Given the description of an element on the screen output the (x, y) to click on. 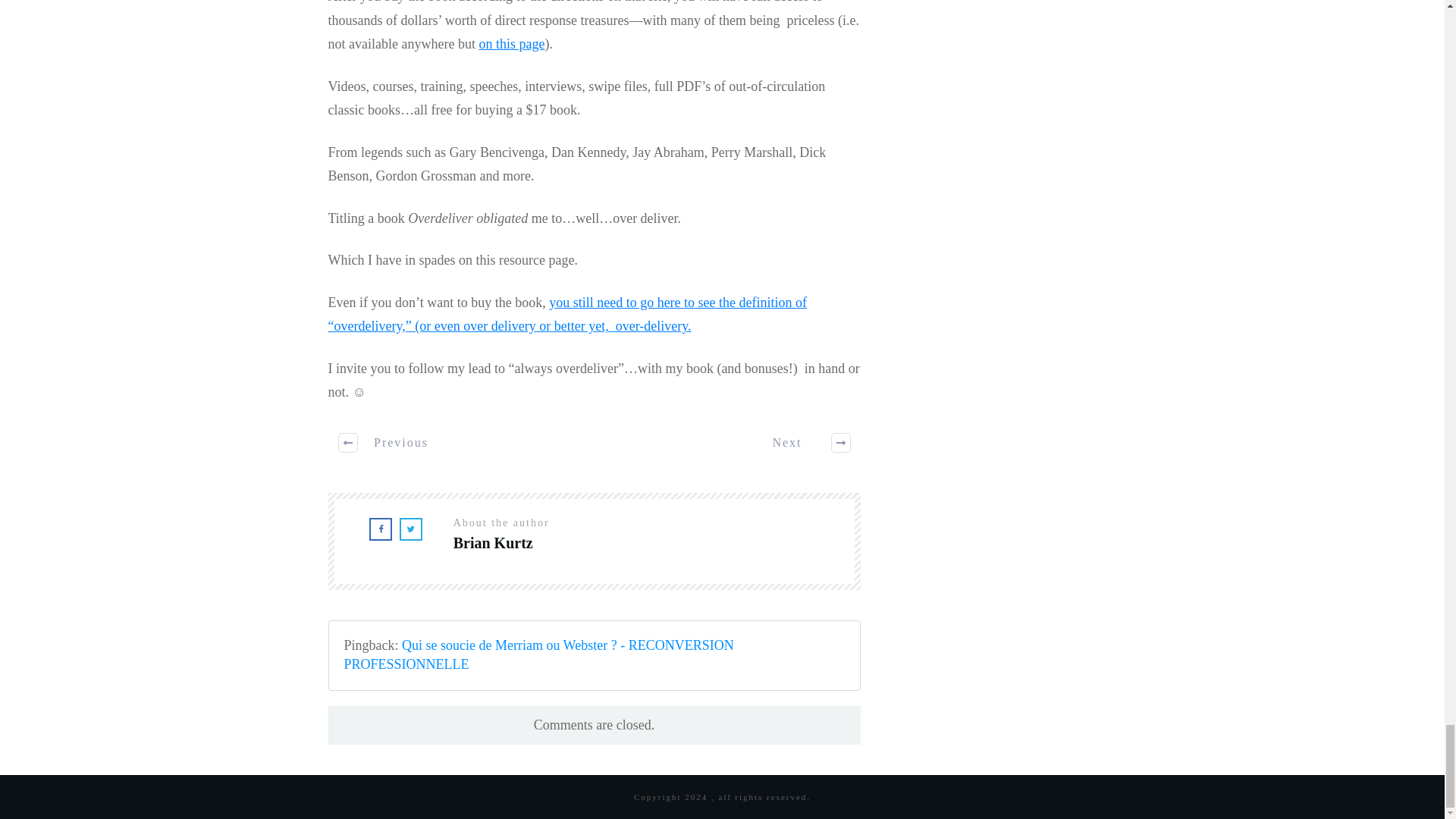
Next (802, 442)
on this page (511, 43)
Previous (385, 442)
